Given the description of an element on the screen output the (x, y) to click on. 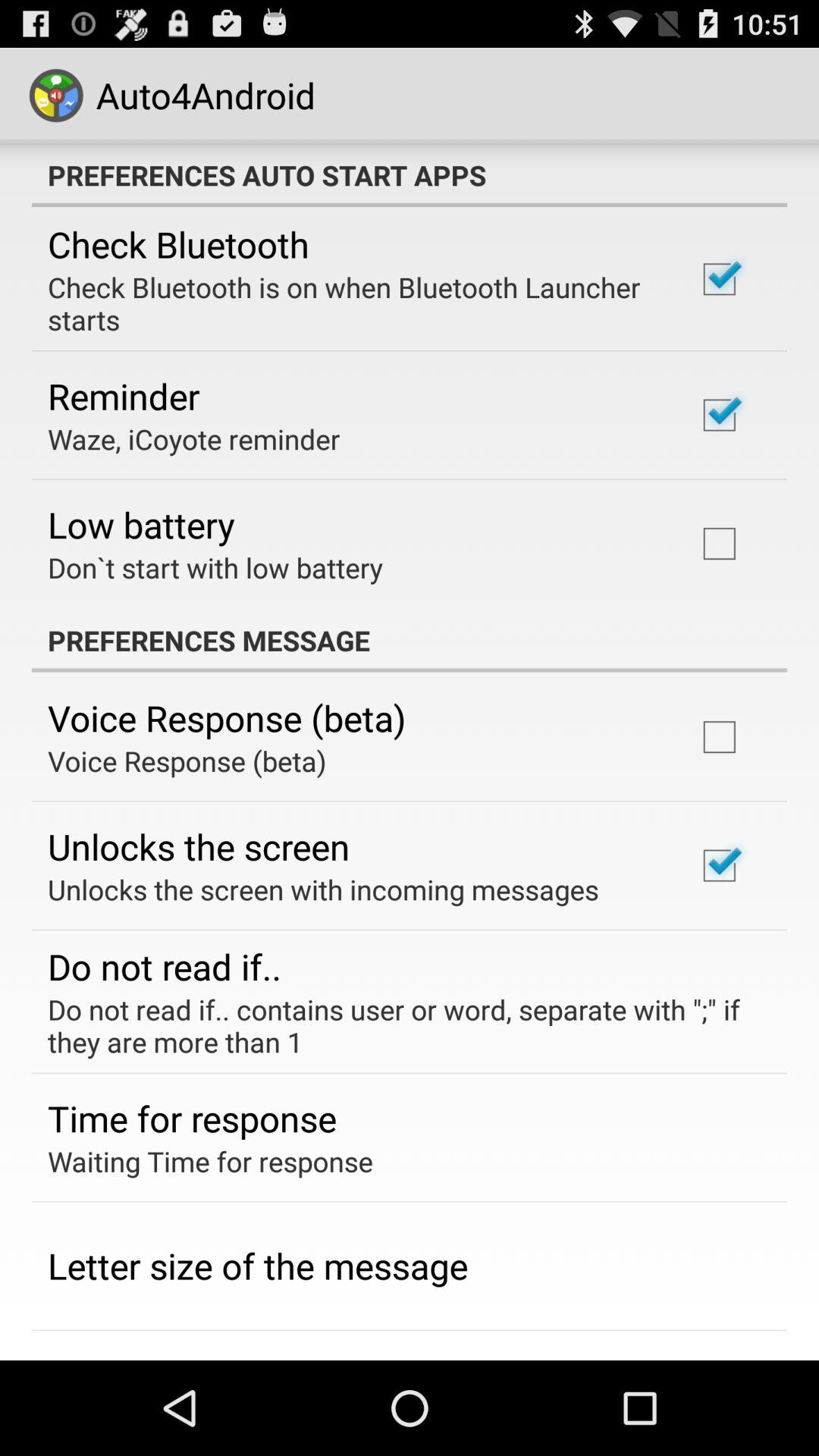
choose the icon above the check bluetooth (409, 175)
